Given the description of an element on the screen output the (x, y) to click on. 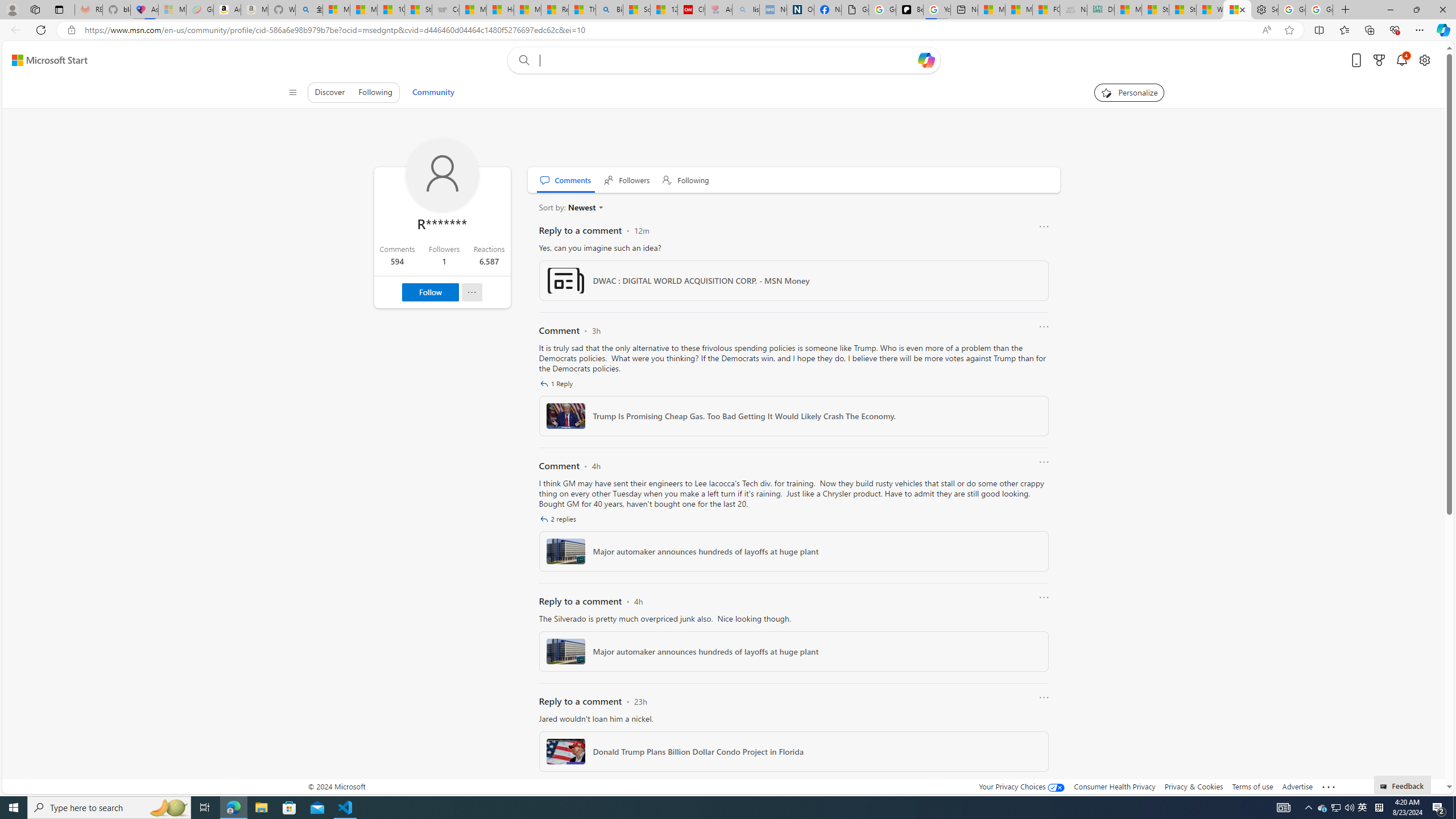
Class: cwt-icon-vector (544, 519)
